Given the description of an element on the screen output the (x, y) to click on. 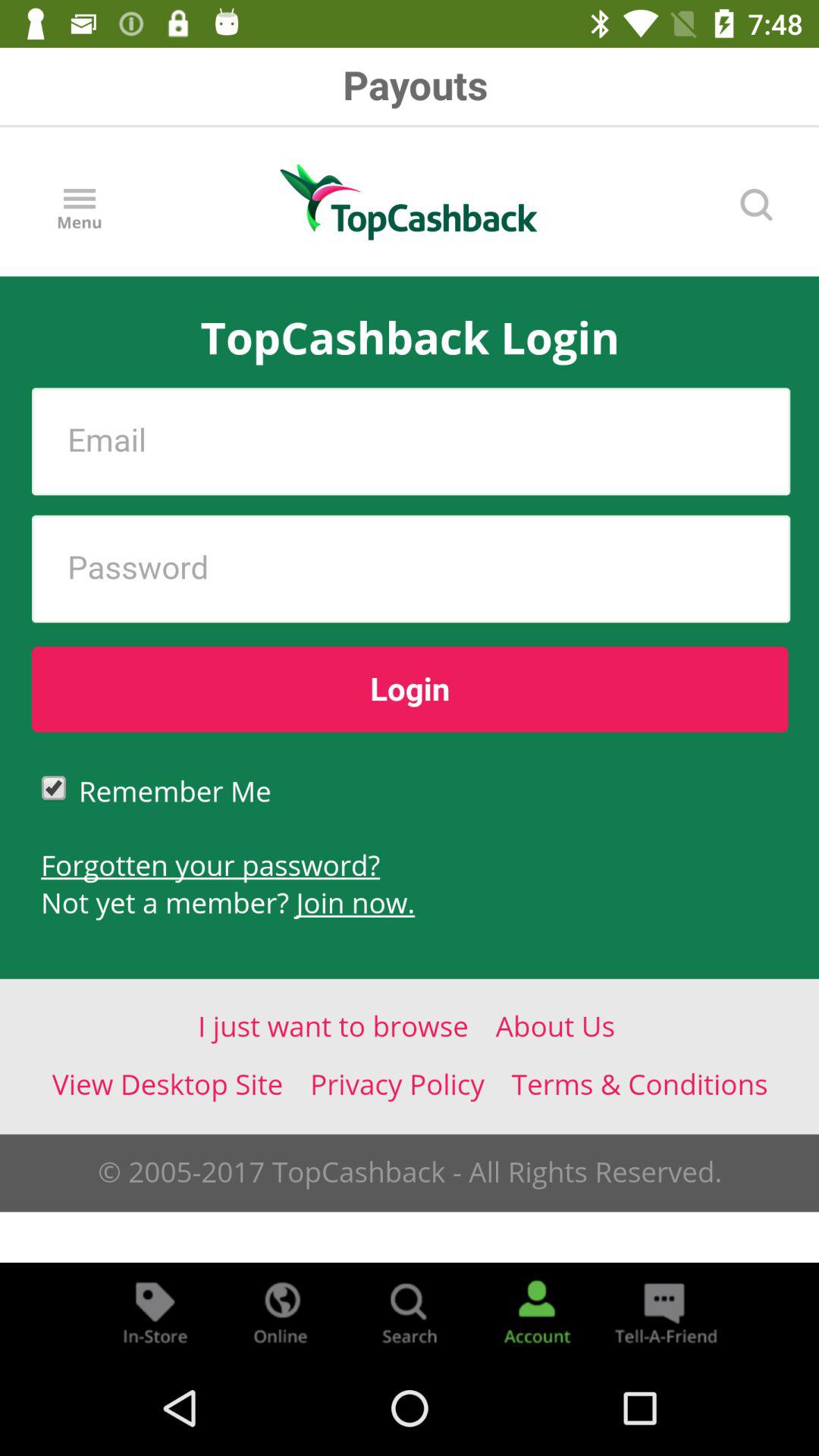
open search bar (409, 1311)
